Given the description of an element on the screen output the (x, y) to click on. 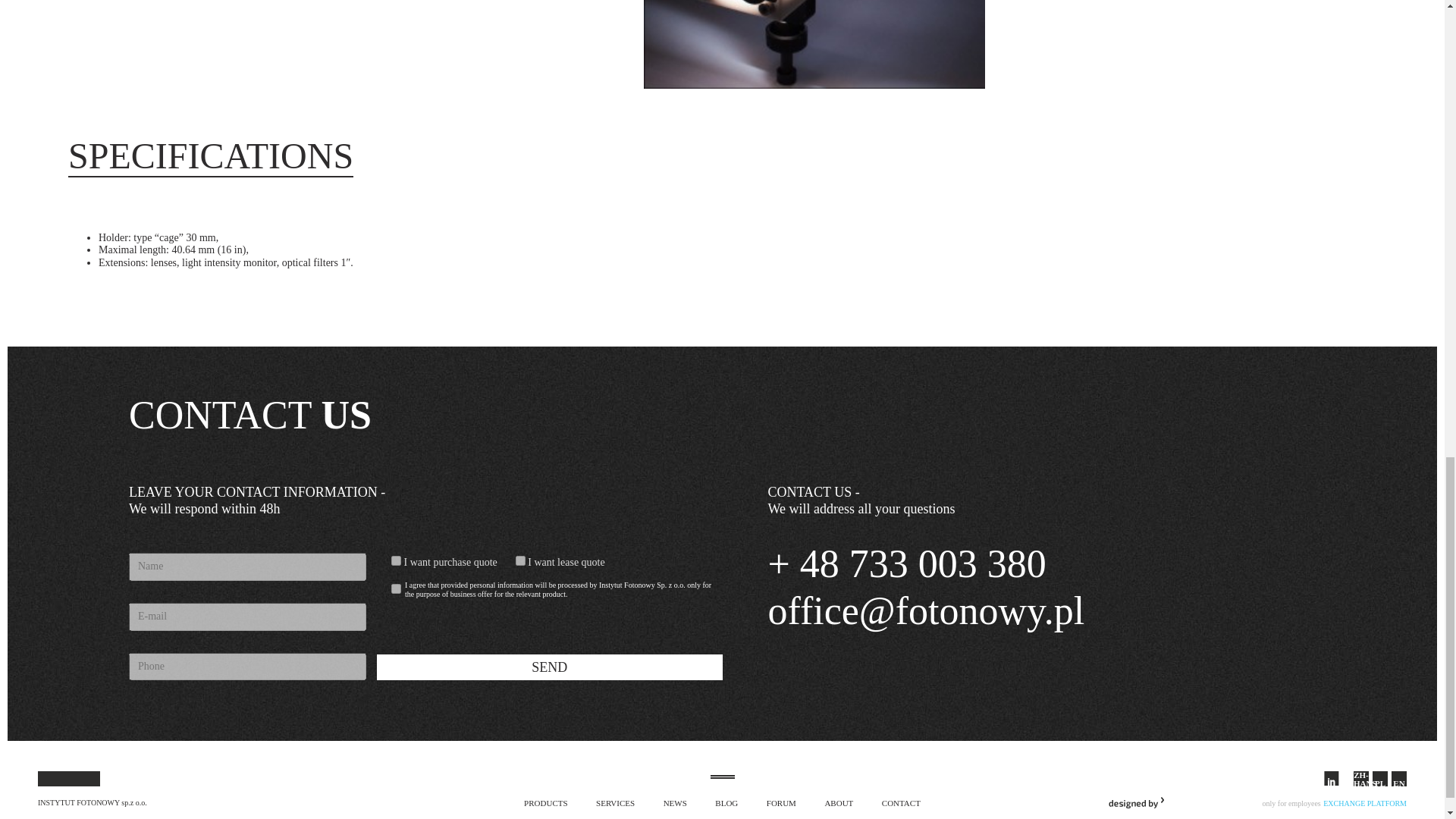
NEWS (675, 802)
I want purchase quote (396, 560)
I want lease quote (520, 560)
Send (549, 667)
CONTACT (901, 802)
BLOG (726, 802)
1 (396, 588)
PRODUCTS (545, 802)
ABOUT (838, 802)
FORUM (781, 802)
Send (549, 667)
SERVICES (614, 802)
